Given the description of an element on the screen output the (x, y) to click on. 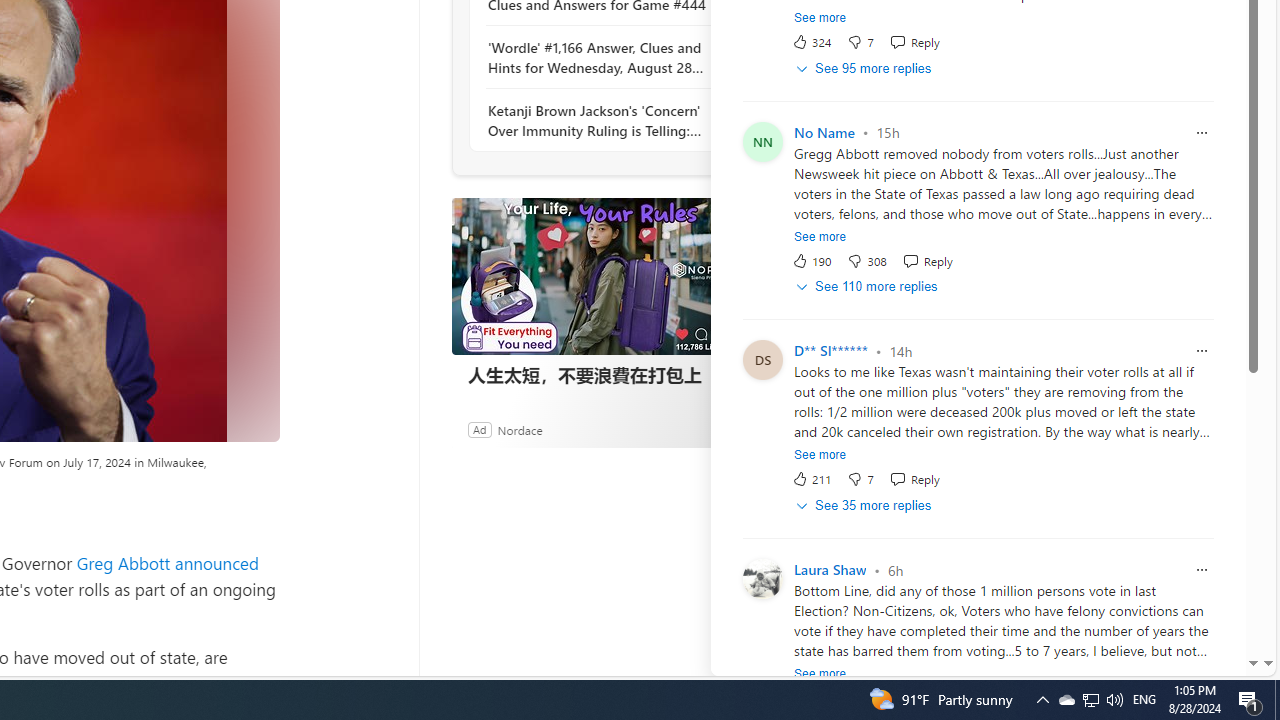
Laura Shaw (829, 570)
Greg Abbott (123, 562)
Profile Picture (762, 578)
No Name (824, 132)
190 Like (811, 259)
See 95 more replies (864, 68)
